Given the description of an element on the screen output the (x, y) to click on. 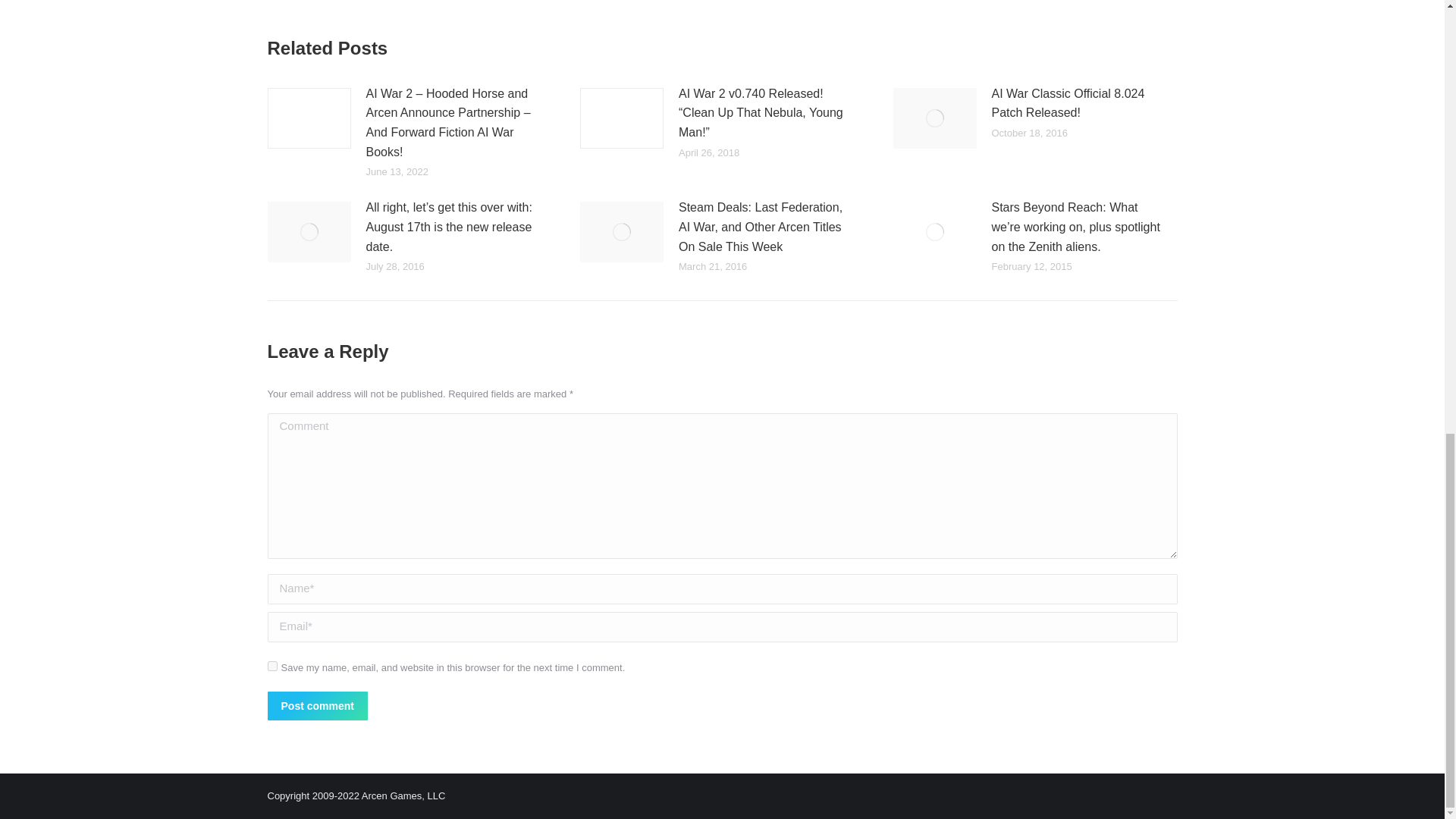
yes (271, 665)
